Given the description of an element on the screen output the (x, y) to click on. 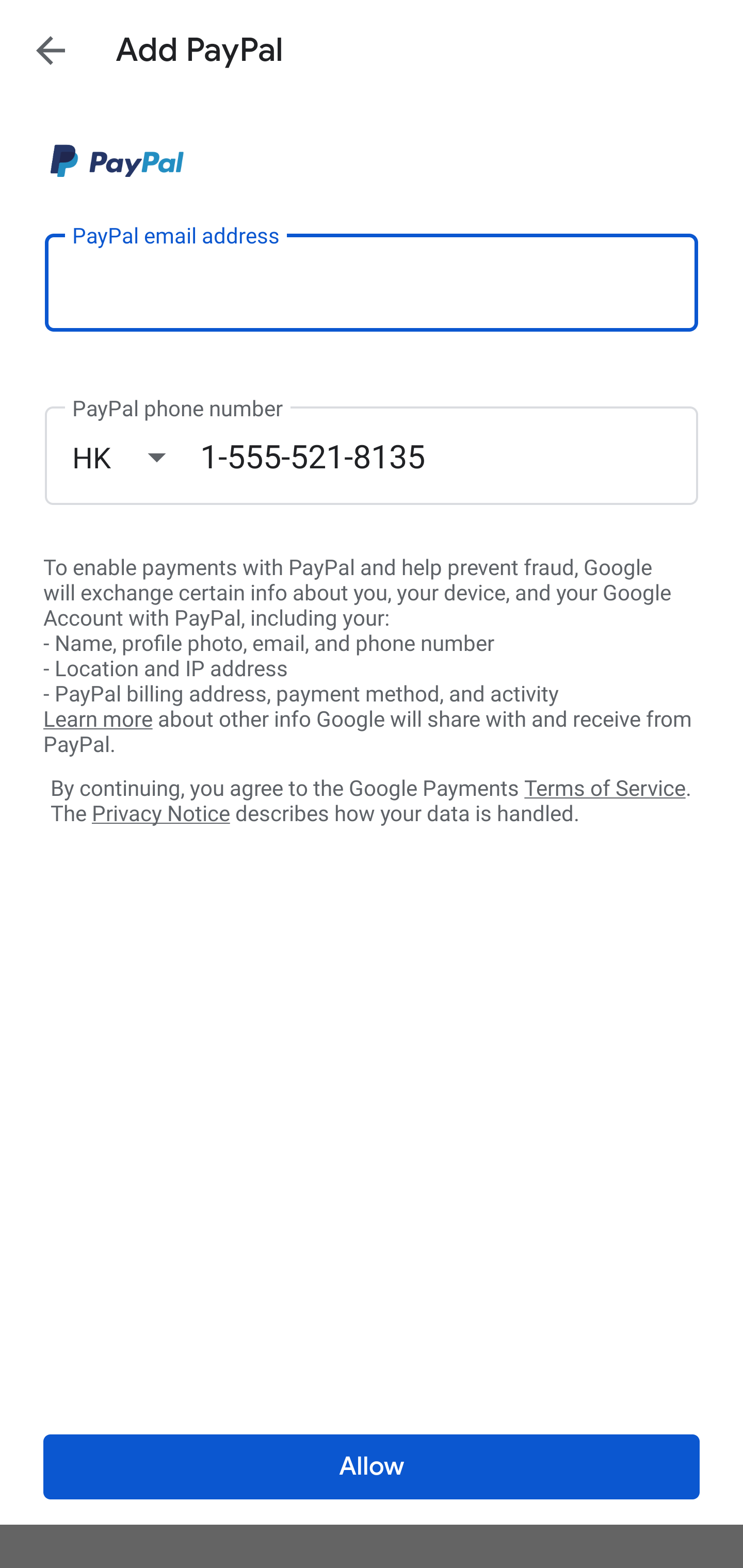
Navigate up (50, 50)
PayPal email address (371, 282)
HK (135, 456)
Learn more (97, 719)
Terms of Service (604, 787)
Privacy Notice (160, 814)
Allow (371, 1466)
